Given the description of an element on the screen output the (x, y) to click on. 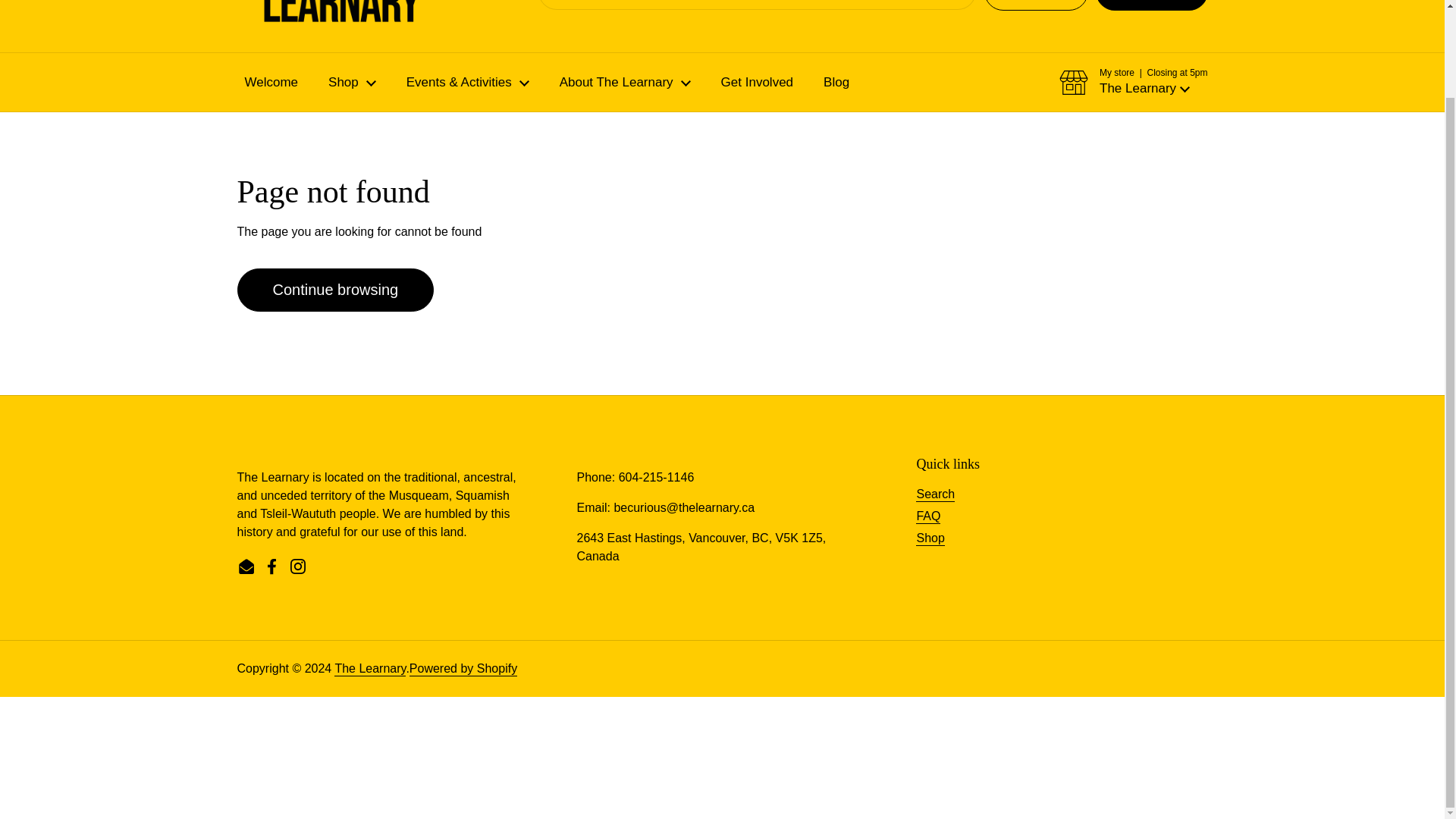
Shop (352, 81)
Welcome (270, 81)
The Learnary (279, 14)
Account (1035, 5)
Open cart (1152, 5)
